Given the description of an element on the screen output the (x, y) to click on. 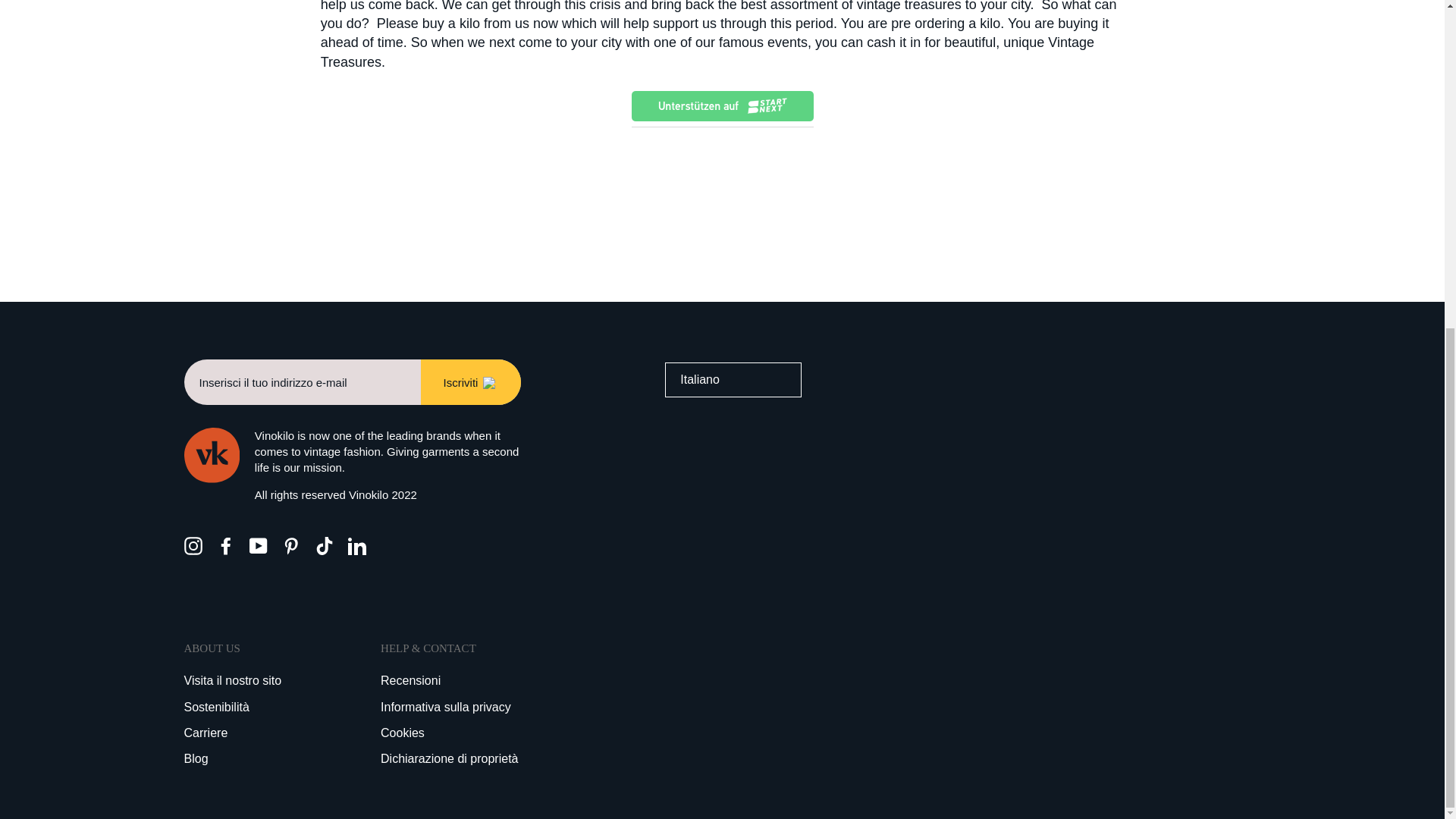
vinokilo.com su Facebook (225, 546)
vinokilo.com su LinkedIn (356, 546)
vinokilo.com su Pinterest (290, 546)
vinokilo.com su Instagram (192, 546)
vinokilo.com su TikTok (324, 546)
vinokilo.com su YouTube (257, 546)
